Given the description of an element on the screen output the (x, y) to click on. 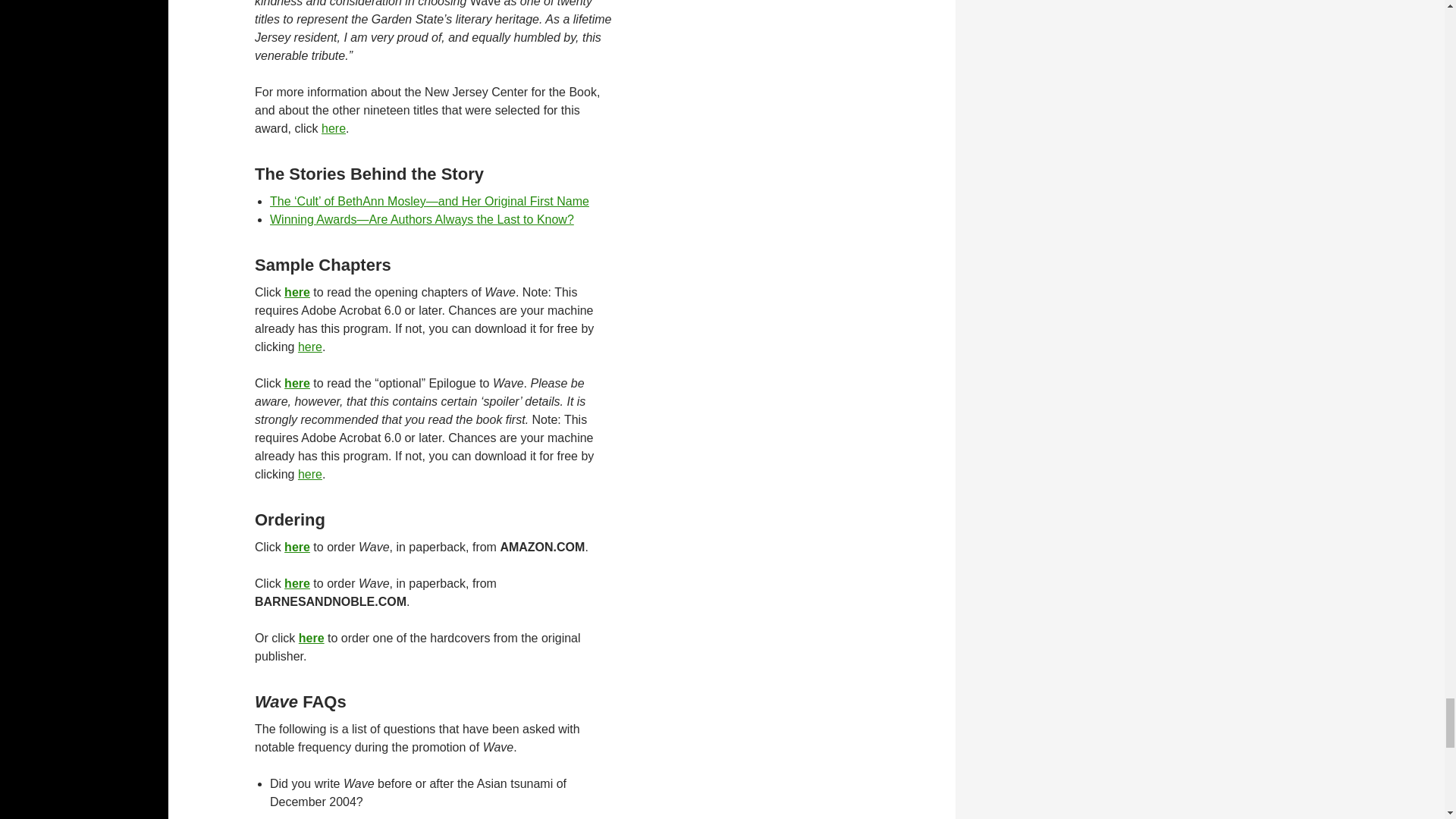
here (296, 583)
here (309, 346)
here (296, 546)
here (296, 382)
here (311, 637)
here (333, 128)
here (309, 473)
here (296, 291)
